Given the description of an element on the screen output the (x, y) to click on. 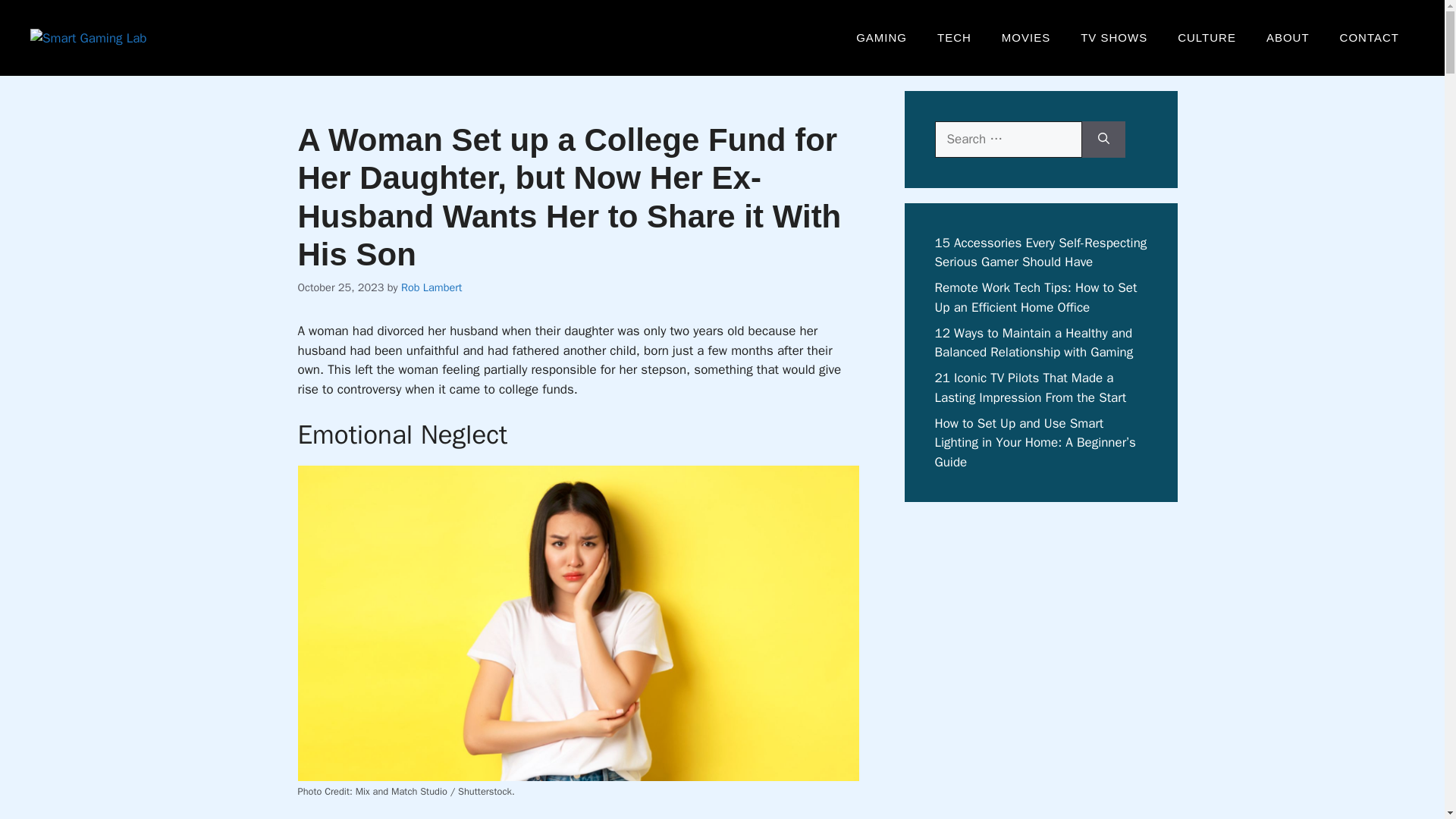
CULTURE (1205, 37)
TECH (954, 37)
Rob Lambert (431, 287)
View all posts by Rob Lambert (431, 287)
GAMING (881, 37)
CONTACT (1368, 37)
TV SHOWS (1113, 37)
